Given the description of an element on the screen output the (x, y) to click on. 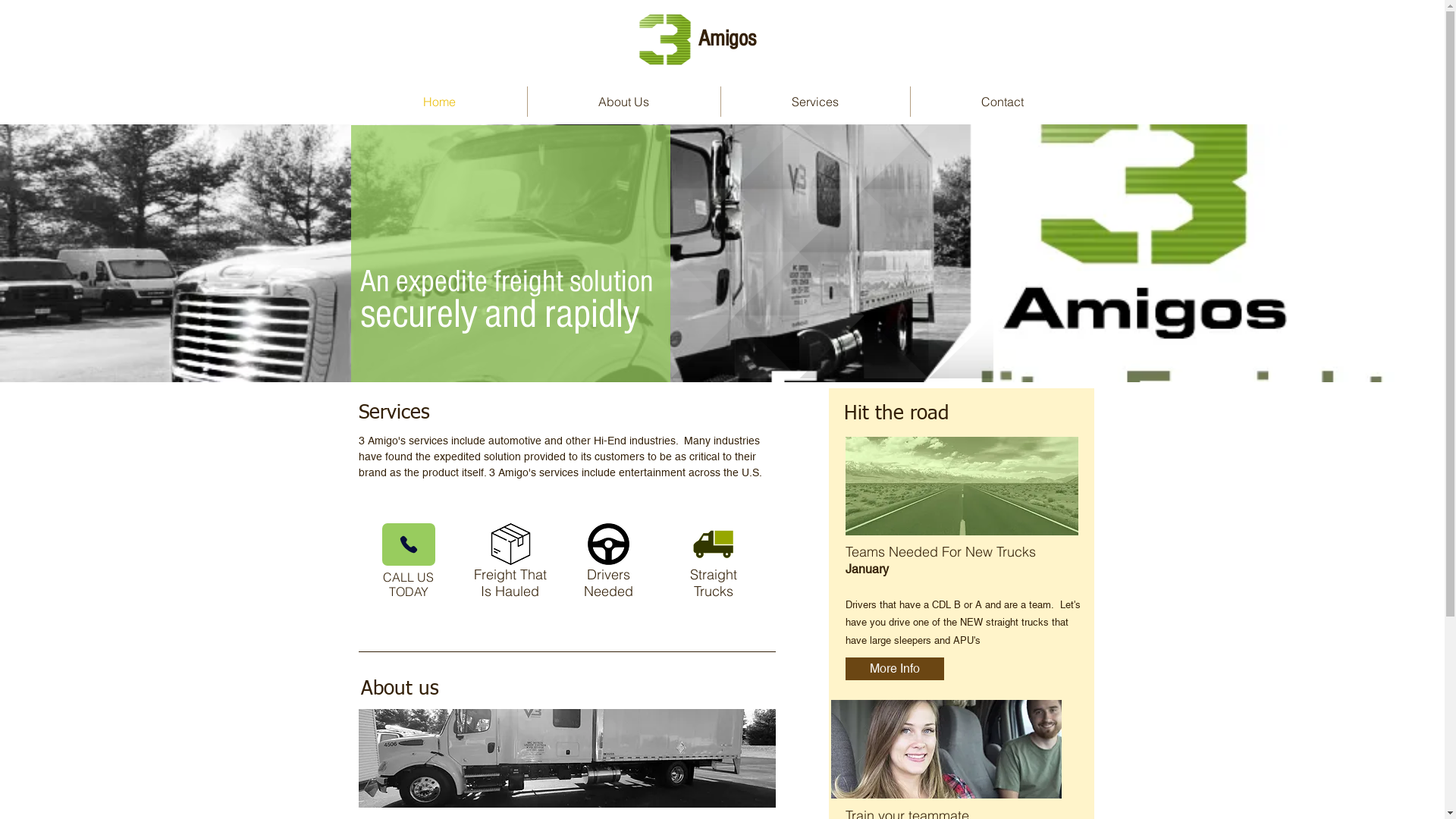
CALL US
TODAY Element type: text (407, 584)
Services Element type: text (814, 101)
About Us Element type: text (623, 101)
Home Element type: text (439, 101)
Straight
Trucks Element type: text (713, 582)
Contact Element type: text (1002, 101)
Freight That
Is Hauled Element type: text (509, 582)
Drivers
Needed Element type: text (608, 582)
More Info Element type: text (893, 668)
Amigos Element type: text (726, 39)
